Given the description of an element on the screen output the (x, y) to click on. 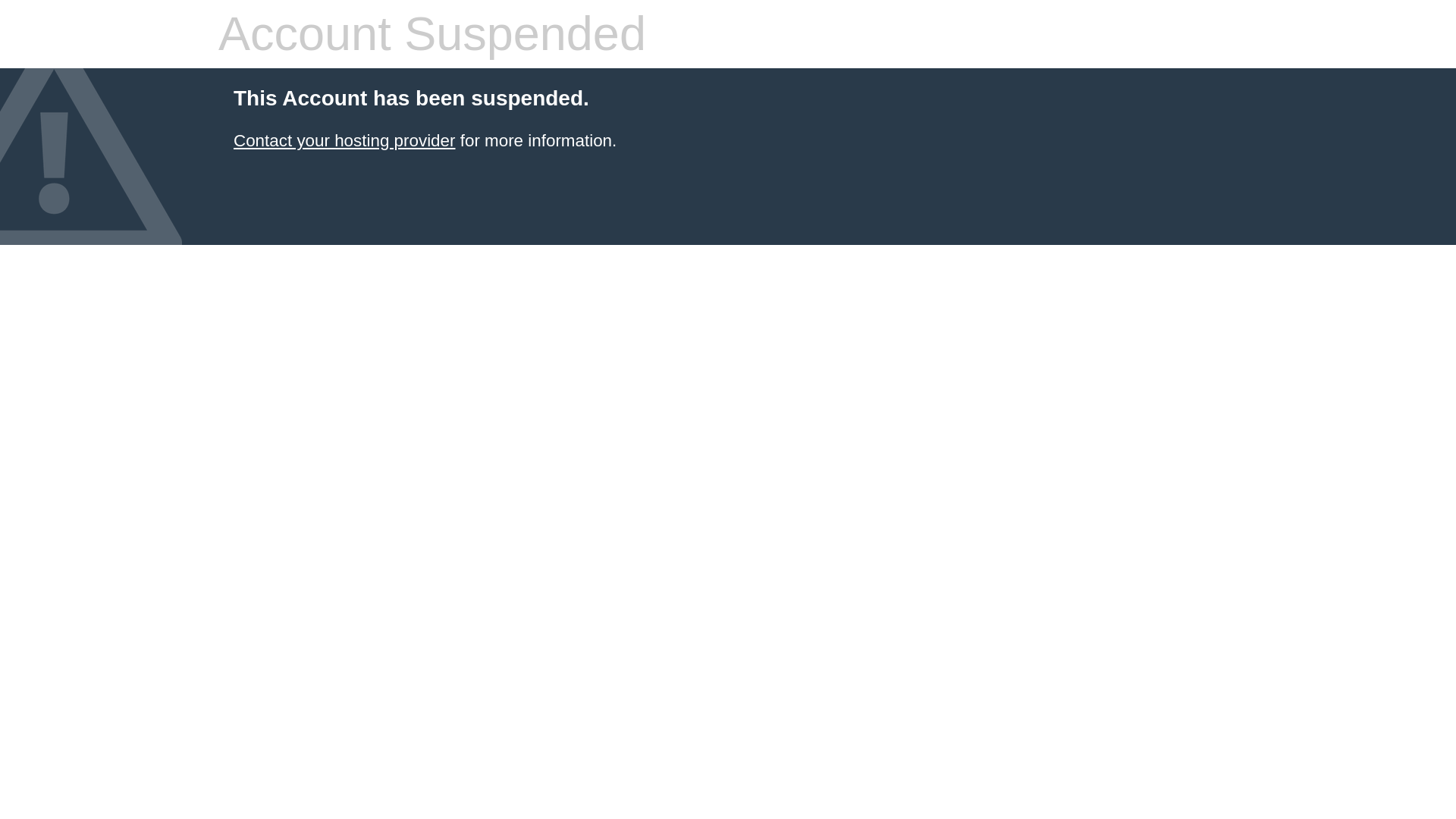
Contact your hosting provider (343, 140)
